Given the description of an element on the screen output the (x, y) to click on. 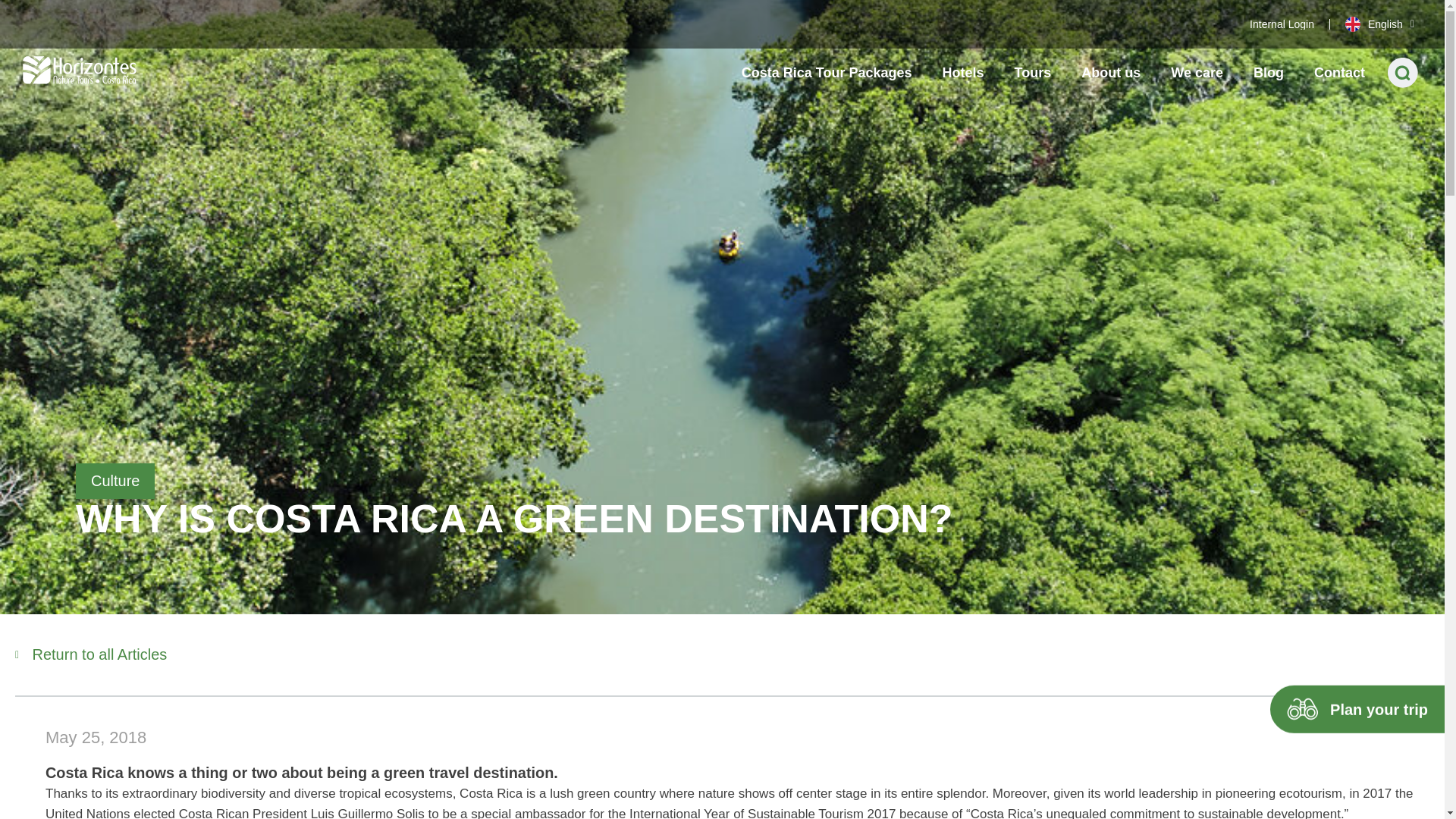
Costa Rica Tour Packages (826, 72)
Return to all Articles (90, 654)
English (1379, 24)
Contact (1339, 72)
Tours (1032, 72)
About us (1110, 72)
Hotels (962, 72)
We care (1197, 72)
Internal Login (1281, 23)
Blog (1268, 72)
